Given the description of an element on the screen output the (x, y) to click on. 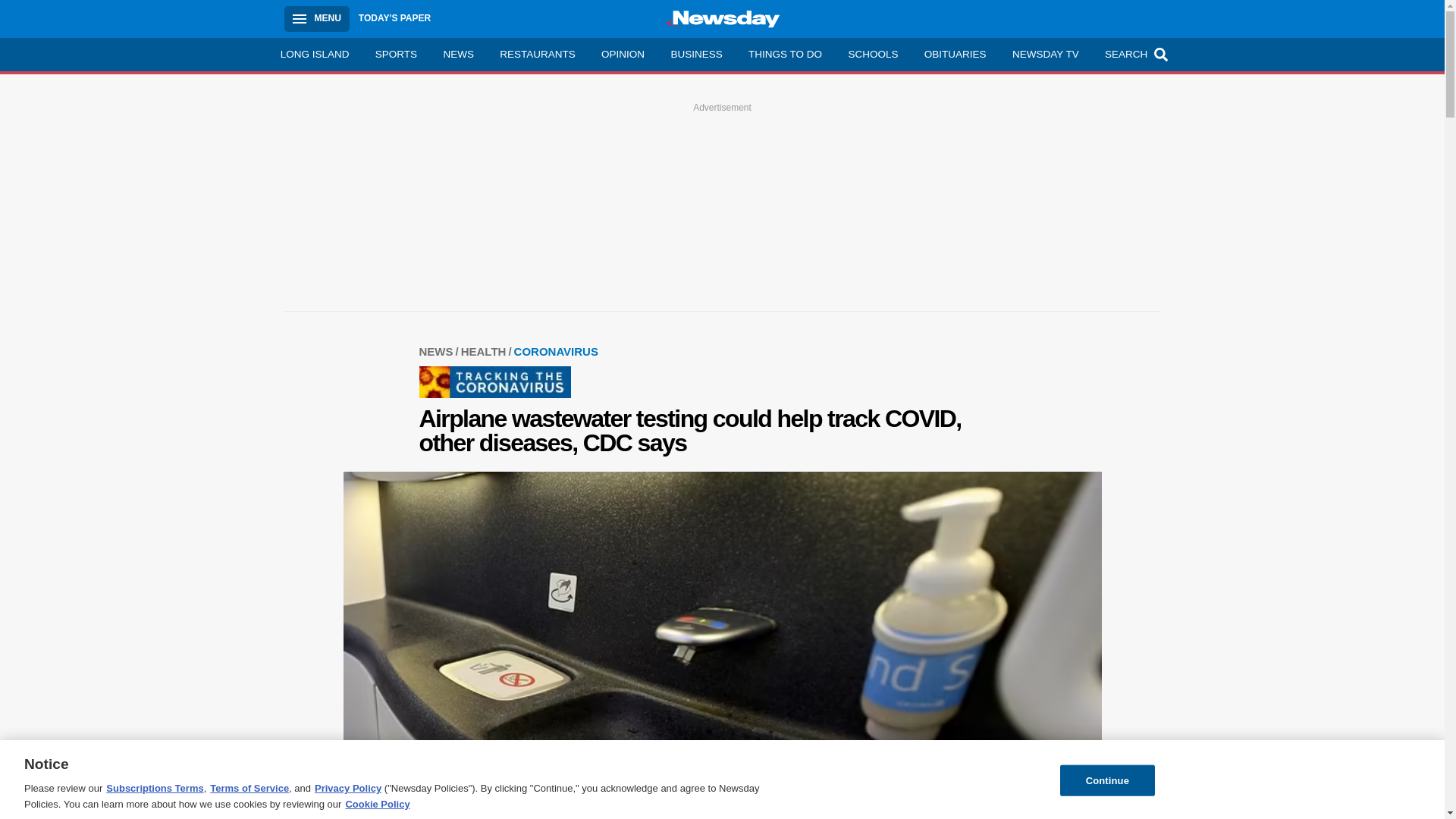
OPINION (623, 54)
LONG ISLAND (313, 54)
CORONAVIRUS (555, 350)
SEARCH (1134, 54)
TODAY'S PAPER (394, 18)
NEWS (439, 350)
RESTAURANTS (537, 54)
SCHOOLS (872, 54)
HEALTH (487, 350)
THINGS TO DO (784, 54)
